Given the description of an element on the screen output the (x, y) to click on. 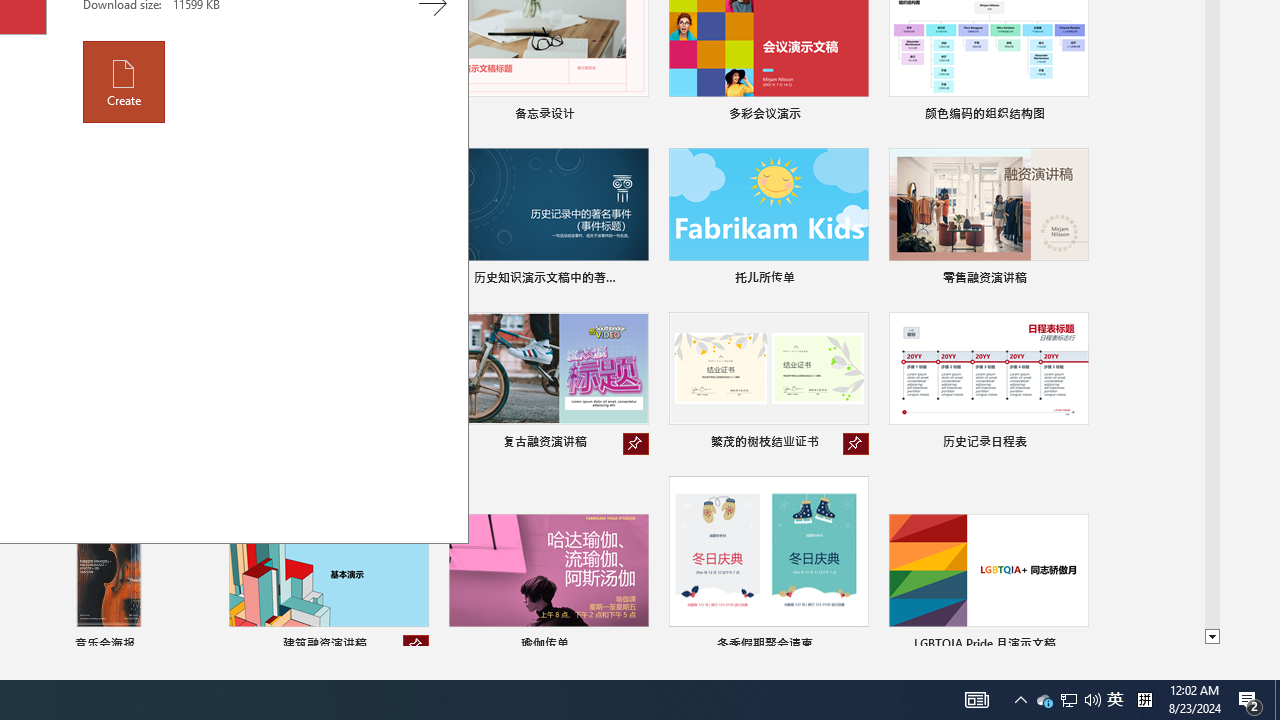
Pin to list (1075, 645)
